Given the description of an element on the screen output the (x, y) to click on. 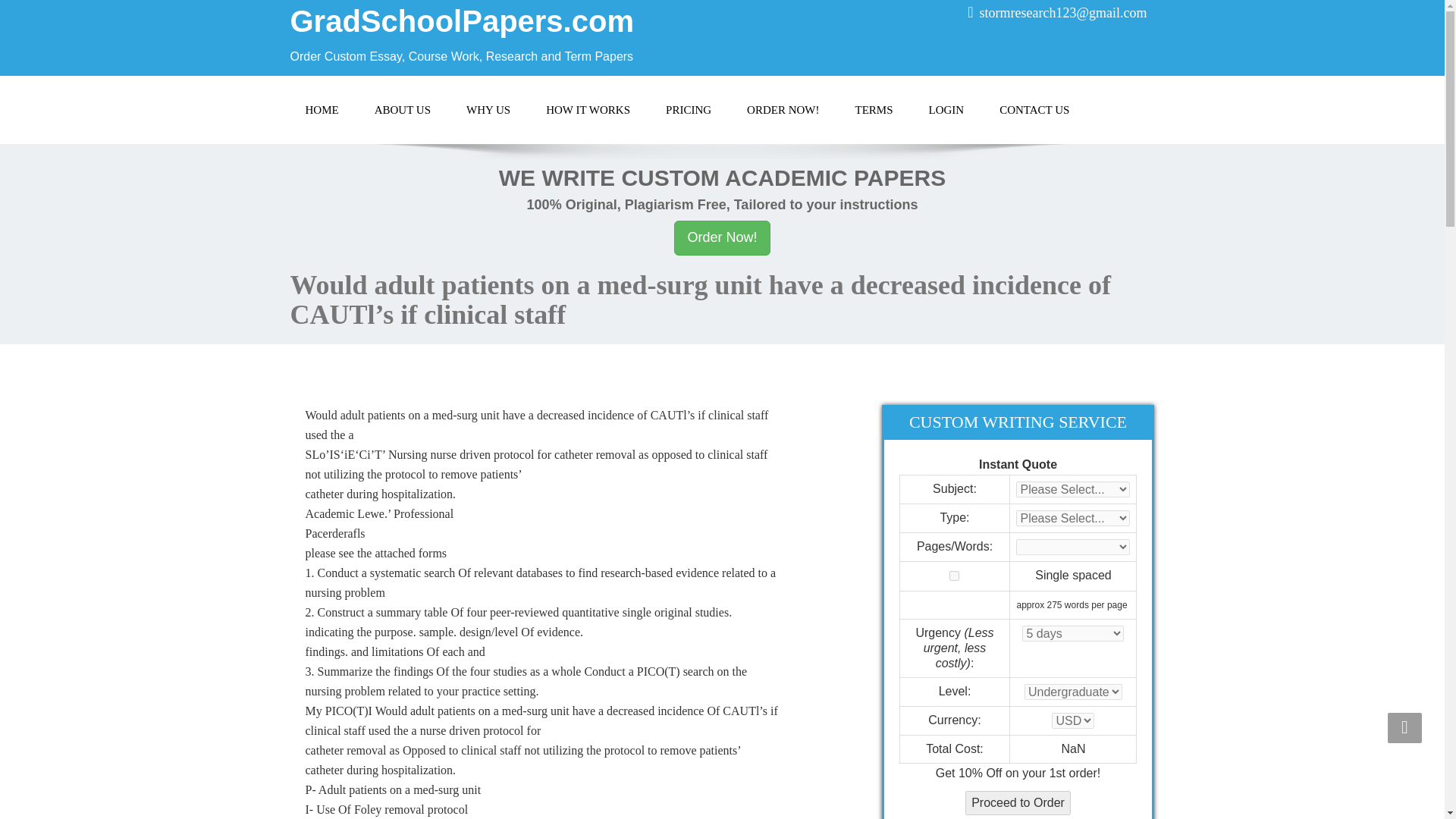
ABOUT US (402, 110)
1 (954, 575)
CONTACT US (1034, 110)
ORDER NOW! (783, 110)
GradSchoolPapers.com (461, 20)
HOME (321, 110)
HOW IT WORKS (588, 110)
Proceed to Order (1017, 802)
WHY US (488, 110)
Proceed to Order (1017, 802)
Order Now! (722, 237)
TERMS (873, 110)
PRICING (688, 110)
GradSchoolPapers.com (461, 20)
LOGIN (945, 110)
